Given the description of an element on the screen output the (x, y) to click on. 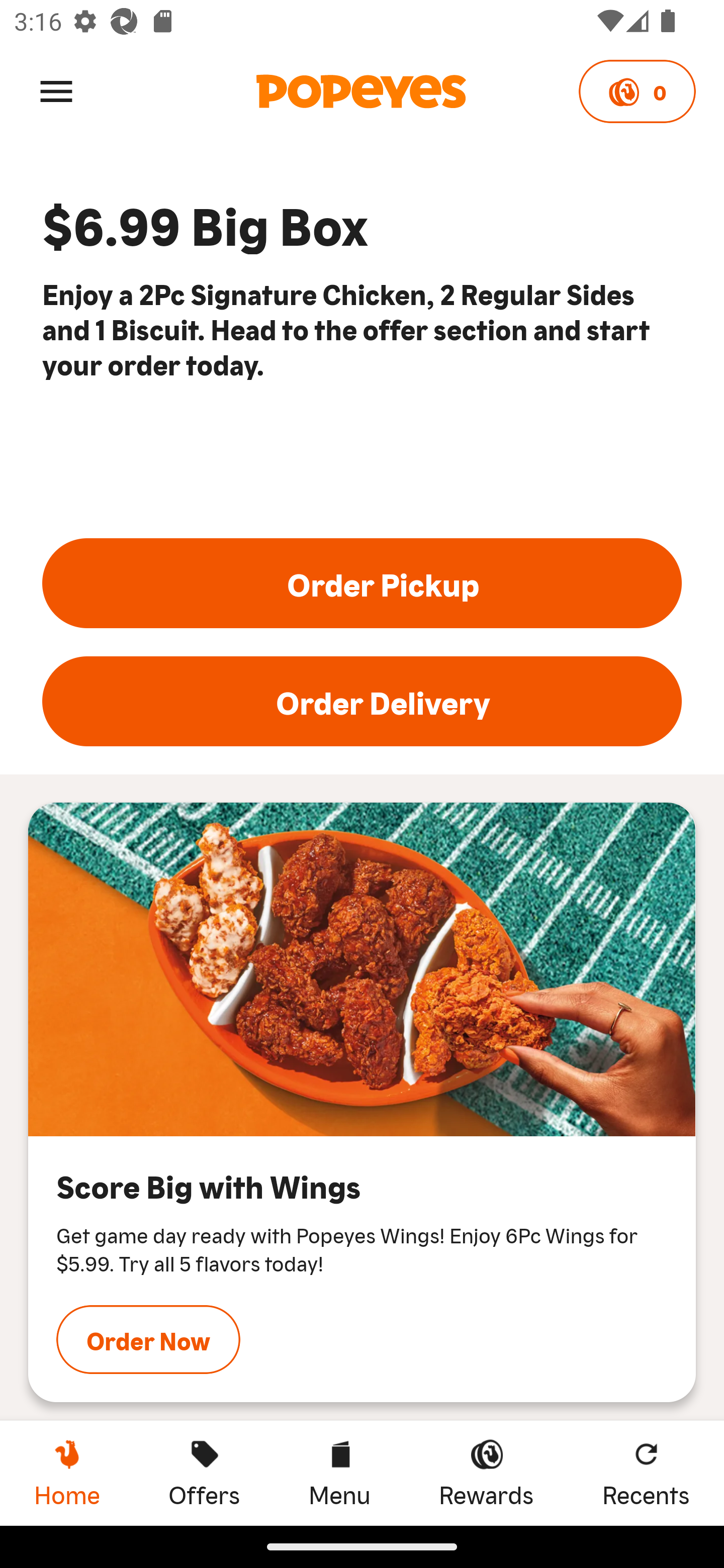
Menu  (56, 90)
0 Points 0 (636, 91)
Order Pickup (361, 582)
Order Delivery (361, 701)
Score Big with Wings (361, 969)
Order Now (148, 1338)
Home, current page Home Home, current page (66, 1472)
Offers Offers Offers (203, 1472)
Menu Menu Menu (339, 1472)
Rewards Rewards Rewards (486, 1472)
Recents Recents Recents (646, 1472)
